Given the description of an element on the screen output the (x, y) to click on. 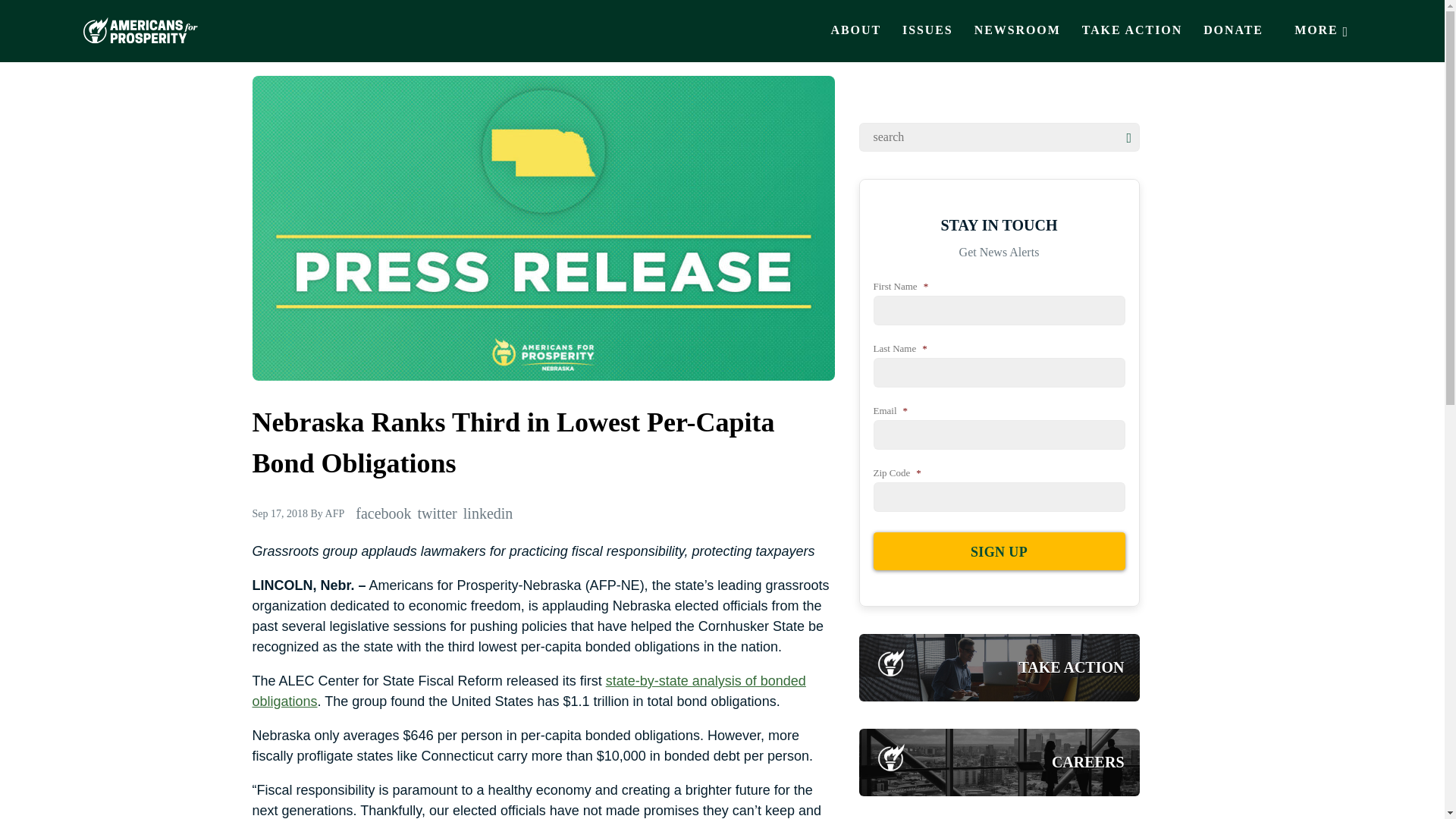
Share on LinkedIn (488, 512)
Share on Twitter (437, 512)
TAKE ACTION (1131, 30)
DONATE (1233, 30)
NEWSROOM (1017, 30)
Sign Up (999, 551)
ISSUES (927, 30)
Share on Facebook (382, 512)
ABOUT (856, 30)
Americans for Prosperity (140, 30)
MORE (1323, 30)
